Given the description of an element on the screen output the (x, y) to click on. 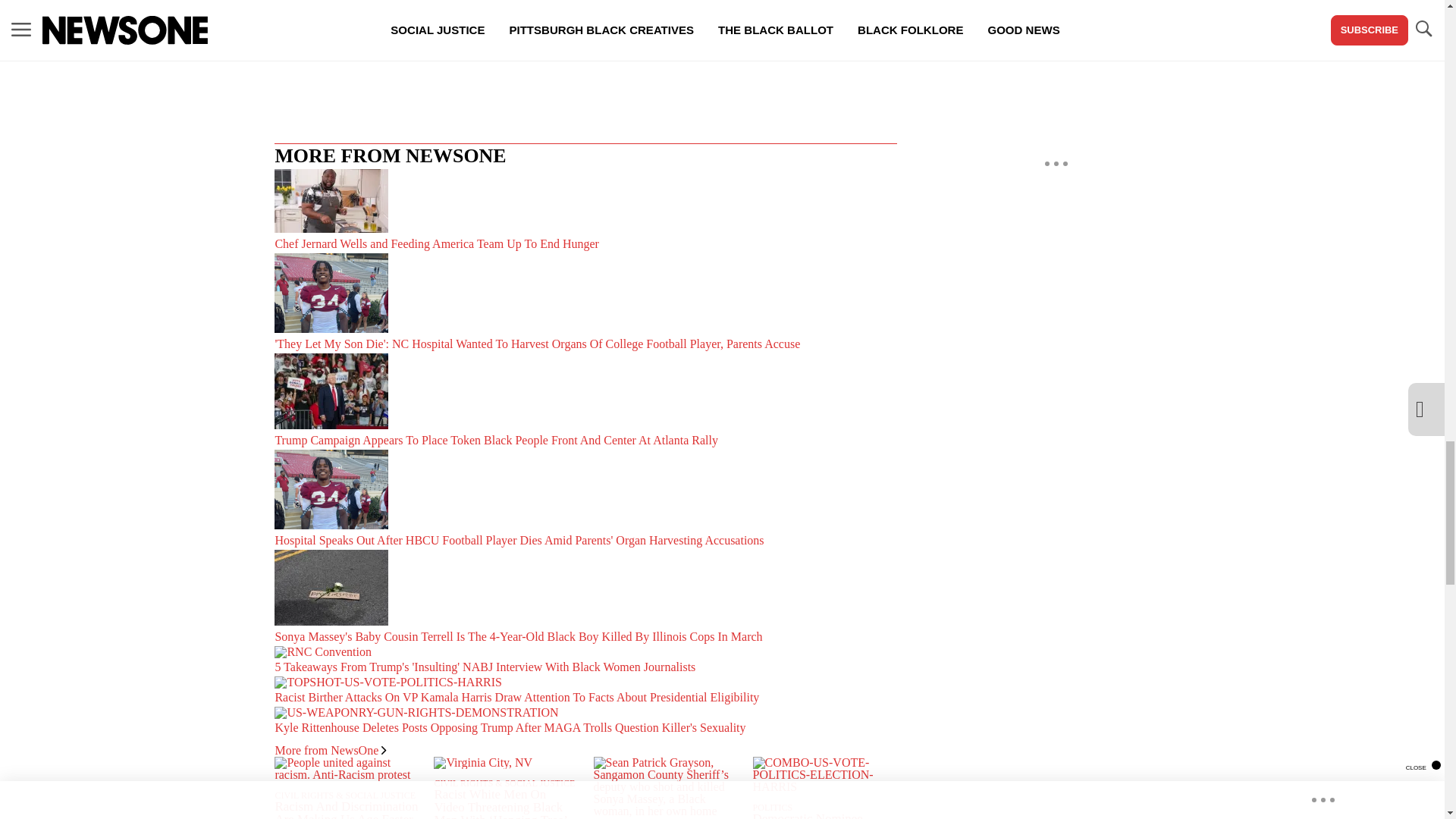
ROLAND MARTIN (550, 41)
DONALD TRUMP (454, 9)
PRESIDENT BARACK OBAMA (404, 41)
WHITE SUPREMACY (674, 41)
ALT-RIGHT (358, 9)
HILLARY CLINTON (571, 9)
NEWSONE NOW (687, 9)
